Given the description of an element on the screen output the (x, y) to click on. 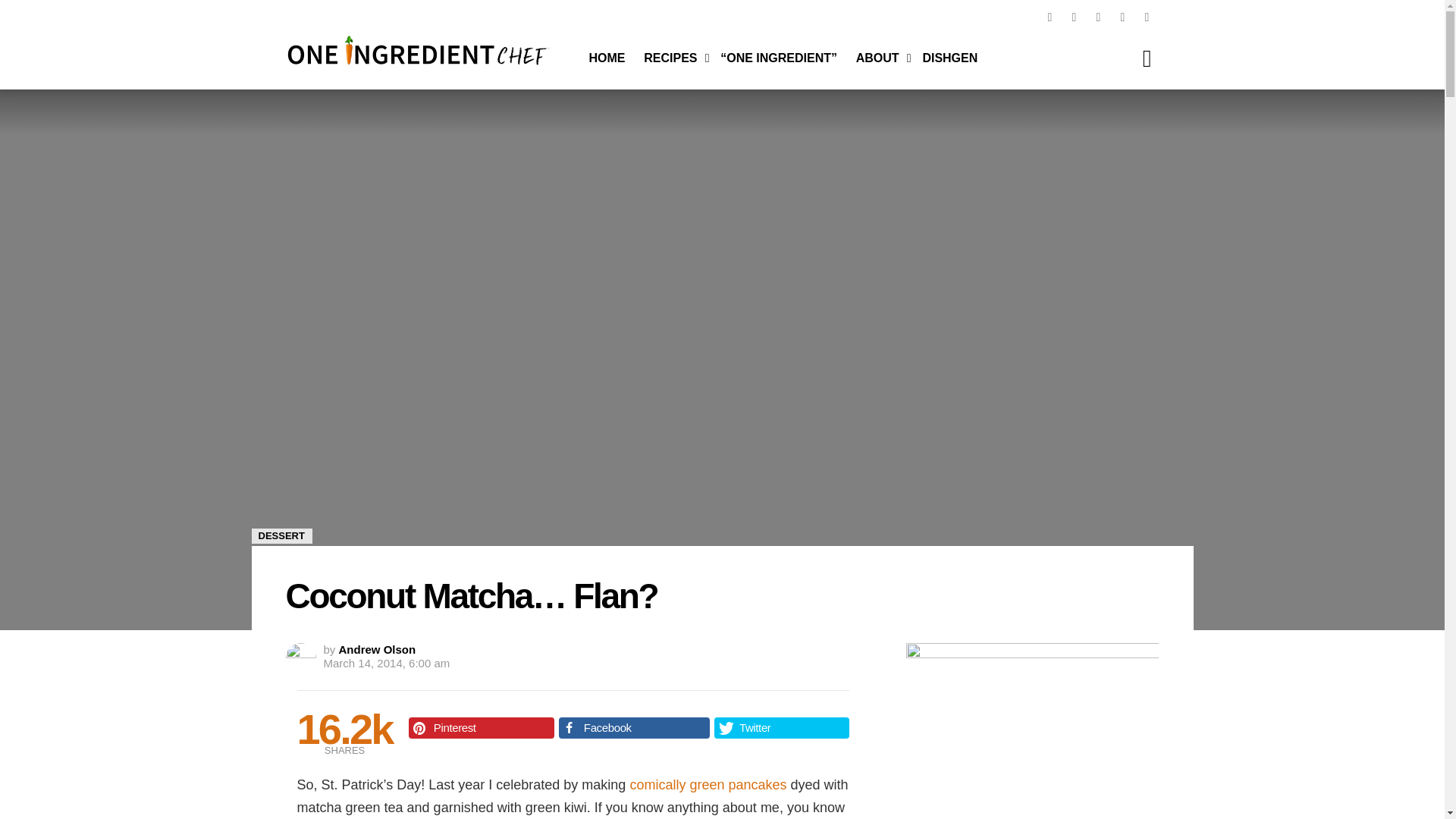
comically green pancakes (707, 784)
Andrew Olson (377, 649)
Green Tea Shamrock Pancakes (707, 784)
ABOUT (879, 57)
vegan recipes (605, 57)
Vegan Recipes (672, 57)
pinterest (1048, 17)
HOME (605, 57)
RECIPES (672, 57)
instagram (1073, 17)
